Given the description of an element on the screen output the (x, y) to click on. 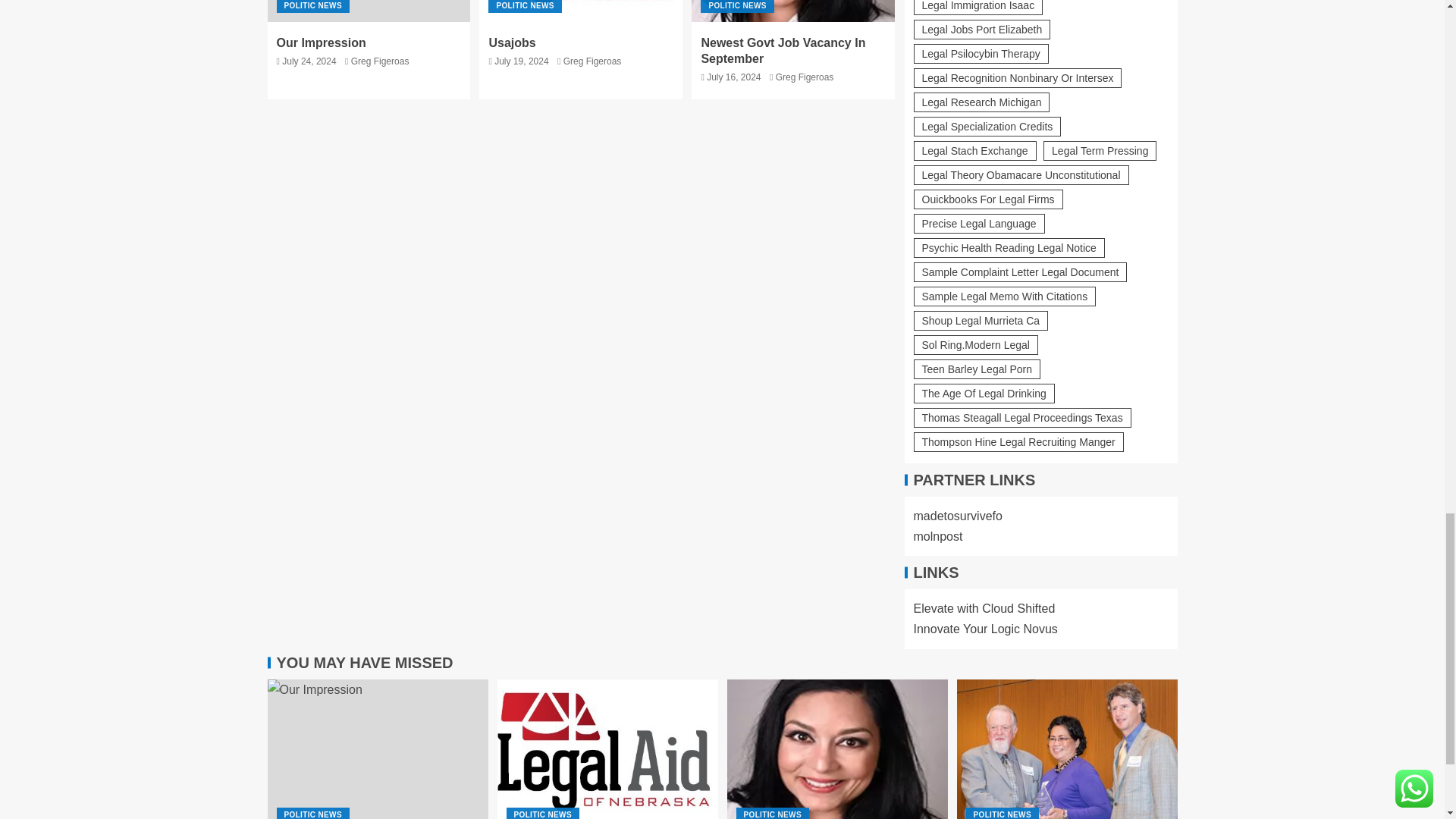
POLITIC NEWS (312, 6)
Newest Govt Job Vacancy In September (793, 11)
Usajobs (607, 749)
Greg Figeroas (379, 61)
Our Impression (320, 42)
POLITIC NEWS (523, 6)
Our Impression (368, 11)
Usajobs (580, 11)
Our Impression (376, 749)
